Given the description of an element on the screen output the (x, y) to click on. 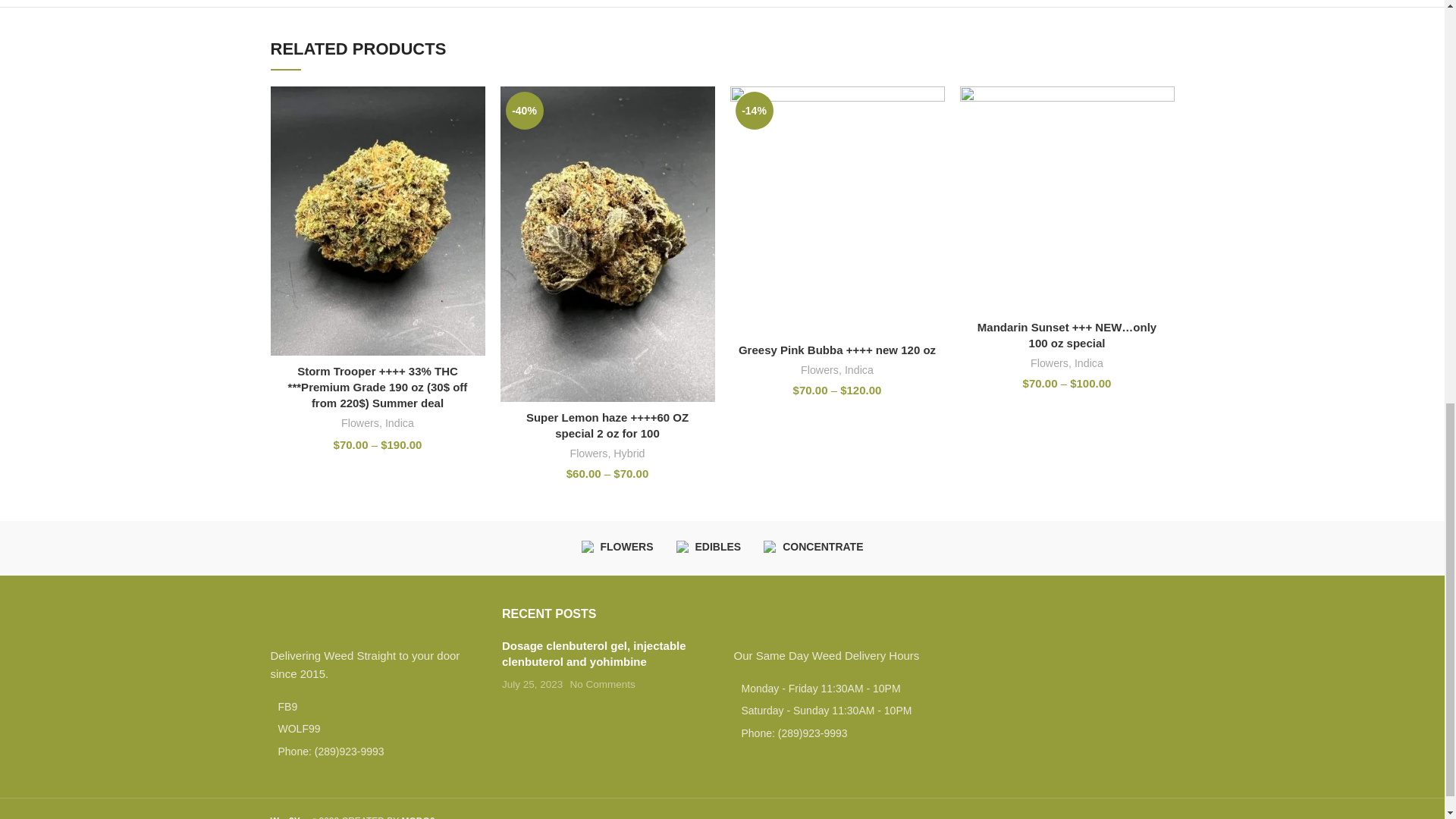
flowers (587, 547)
edibles (683, 547)
concentrates (769, 547)
